Given the description of an element on the screen output the (x, y) to click on. 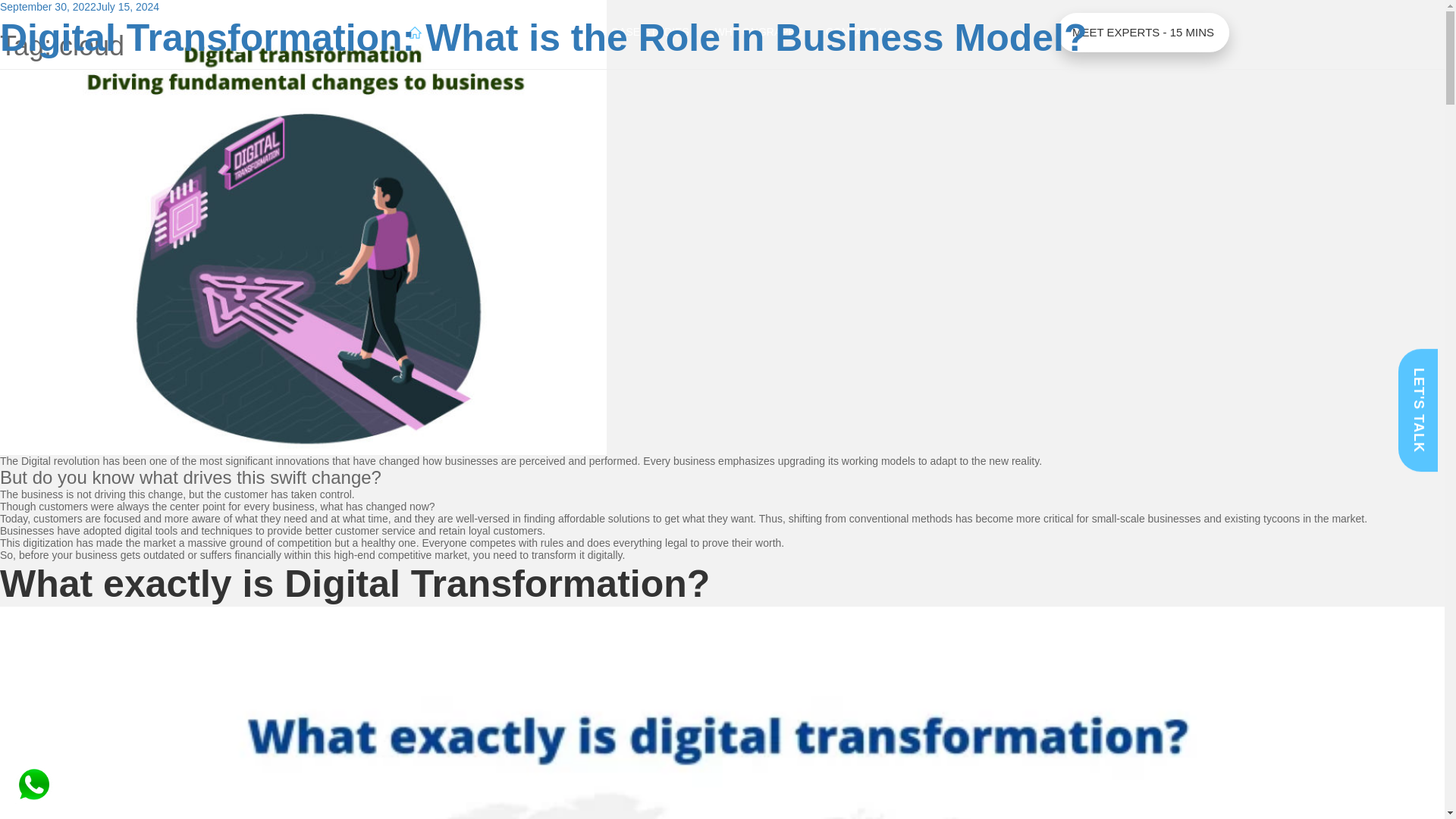
SERVICES (474, 32)
SOLUTION (557, 32)
What exactly is Digital Transformation? (355, 583)
